Given the description of an element on the screen output the (x, y) to click on. 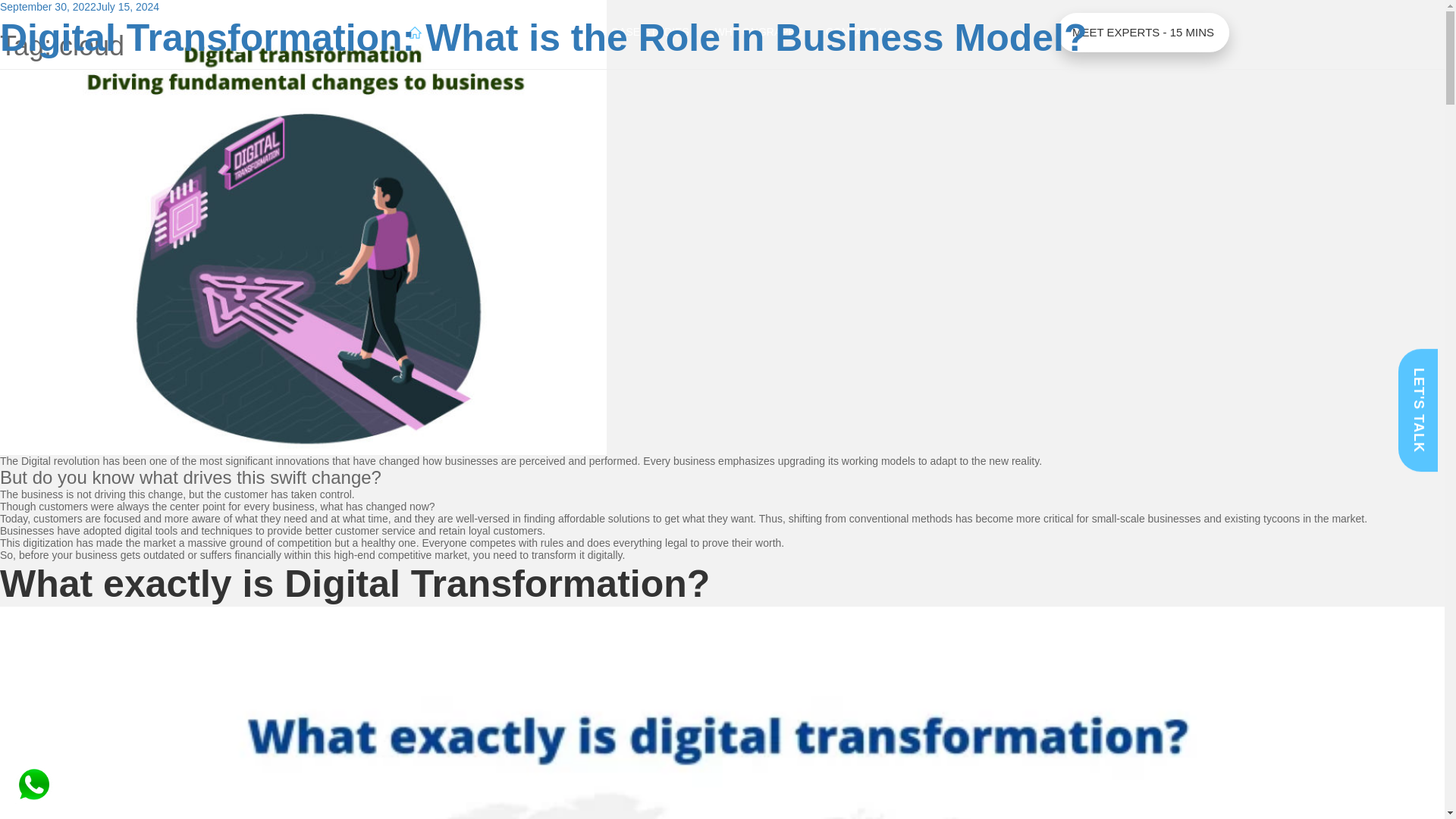
SERVICES (474, 32)
SOLUTION (557, 32)
What exactly is Digital Transformation? (355, 583)
